Given the description of an element on the screen output the (x, y) to click on. 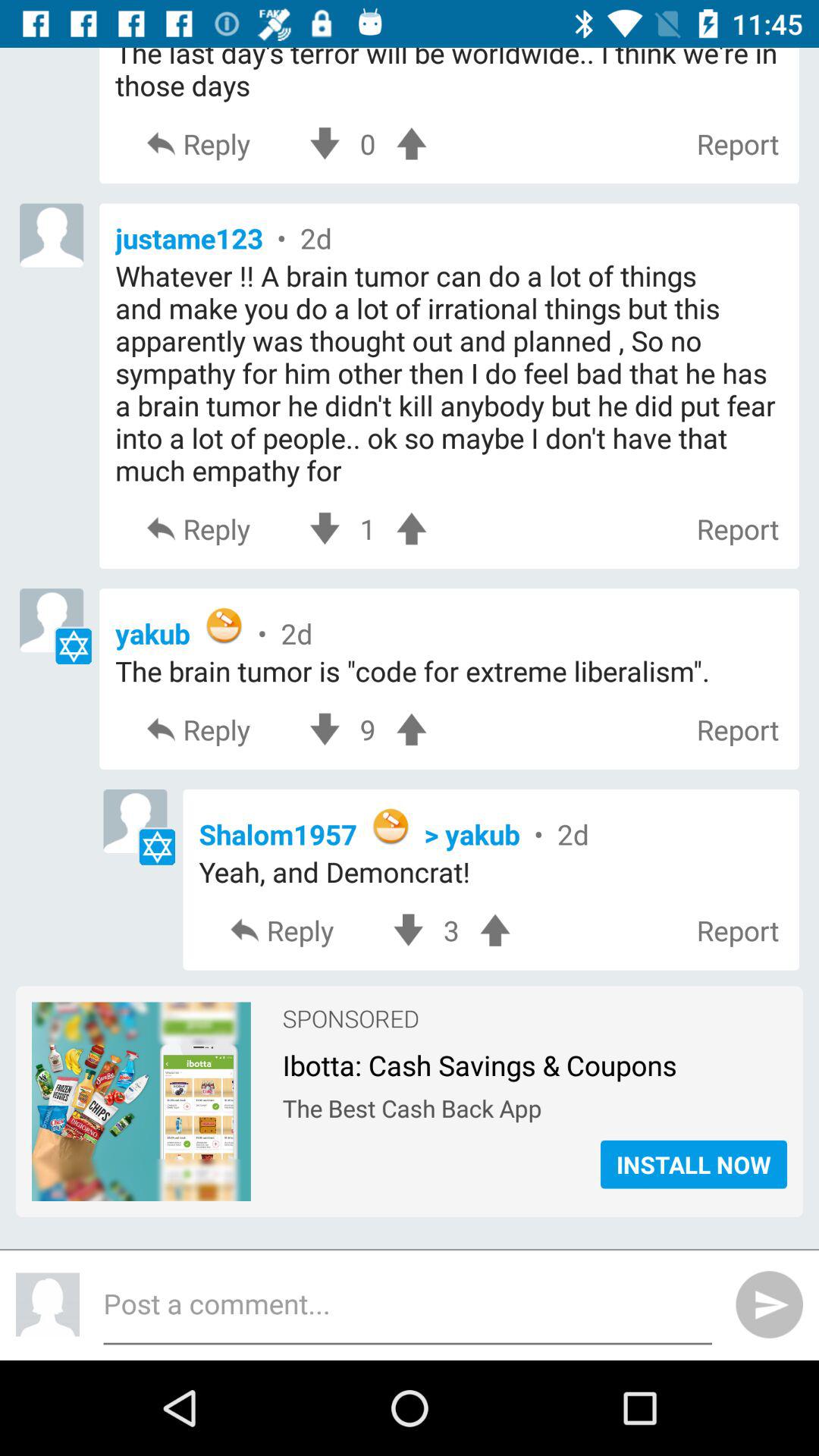
tap icon to the left of the sponsored icon (140, 1023)
